Given the description of an element on the screen output the (x, y) to click on. 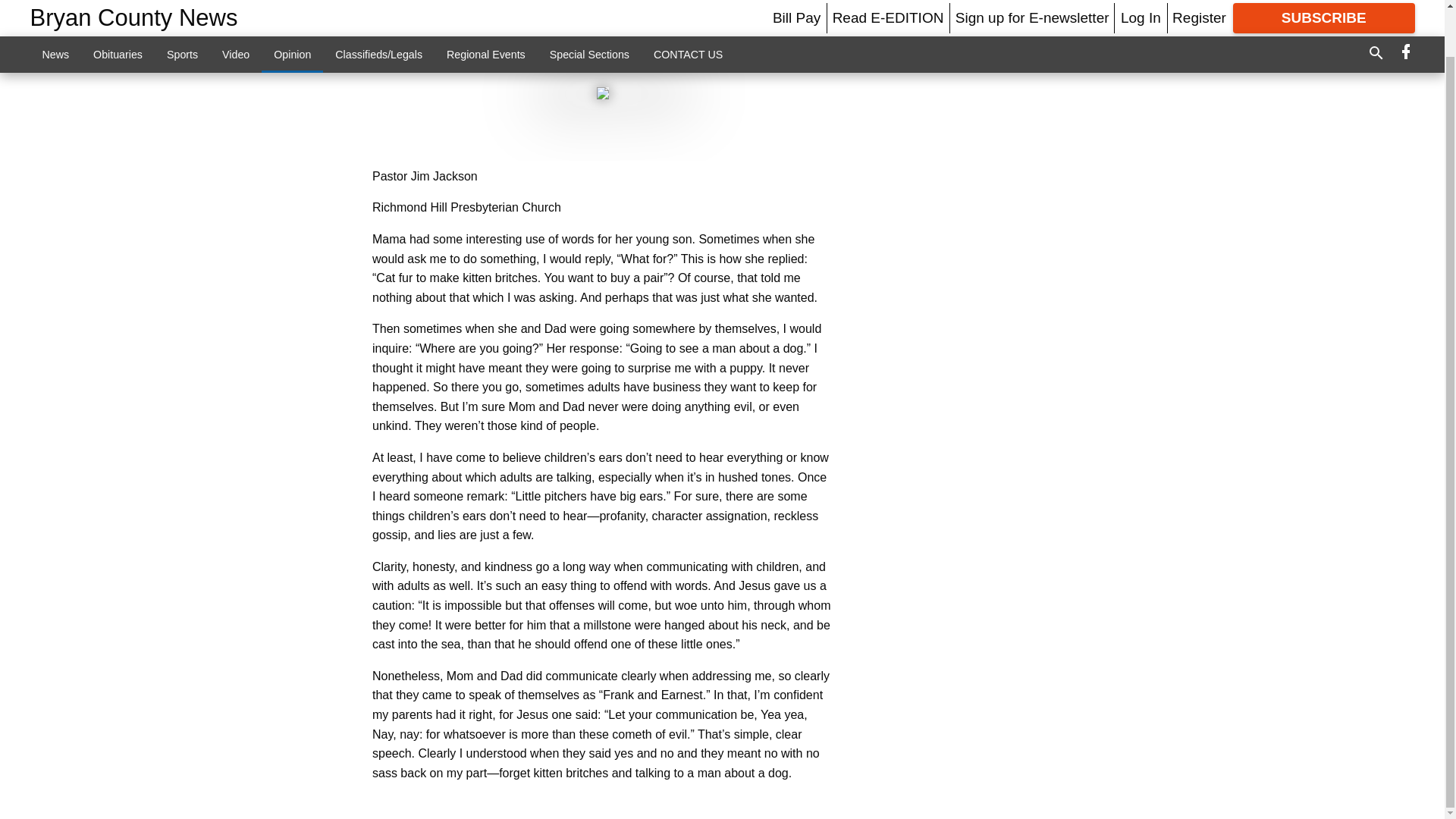
Sports (181, 10)
Video (235, 10)
Opinion (292, 10)
News (55, 10)
Regional Events (485, 10)
Obituaries (117, 10)
